Given the description of an element on the screen output the (x, y) to click on. 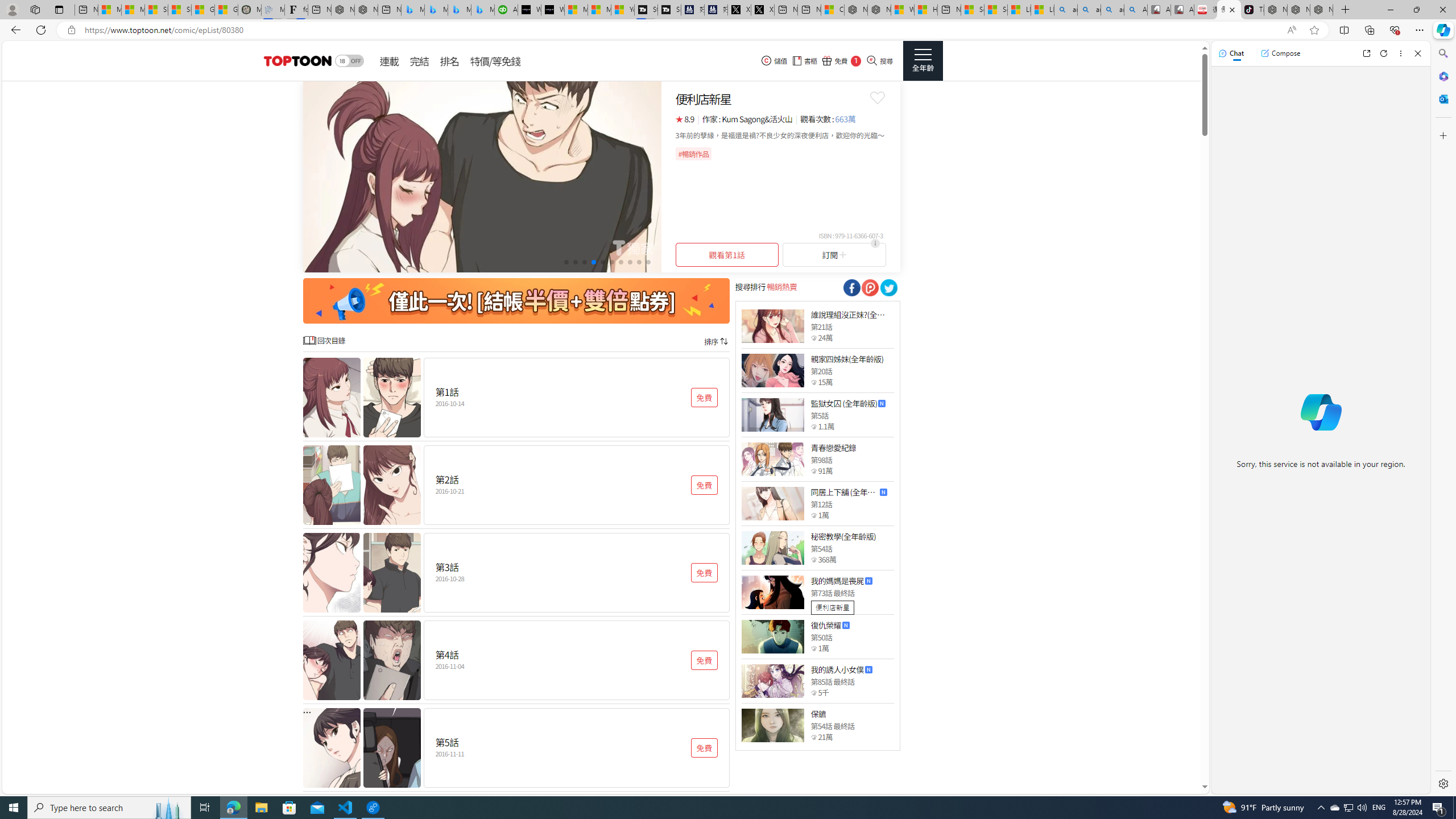
Class: swiper-slide swiper-slide-prev (481, 176)
Go to slide 7 (620, 261)
Class: swiper-slide swiper-slide-next (481, 176)
Class: thumb_img (772, 725)
